Given the description of an element on the screen output the (x, y) to click on. 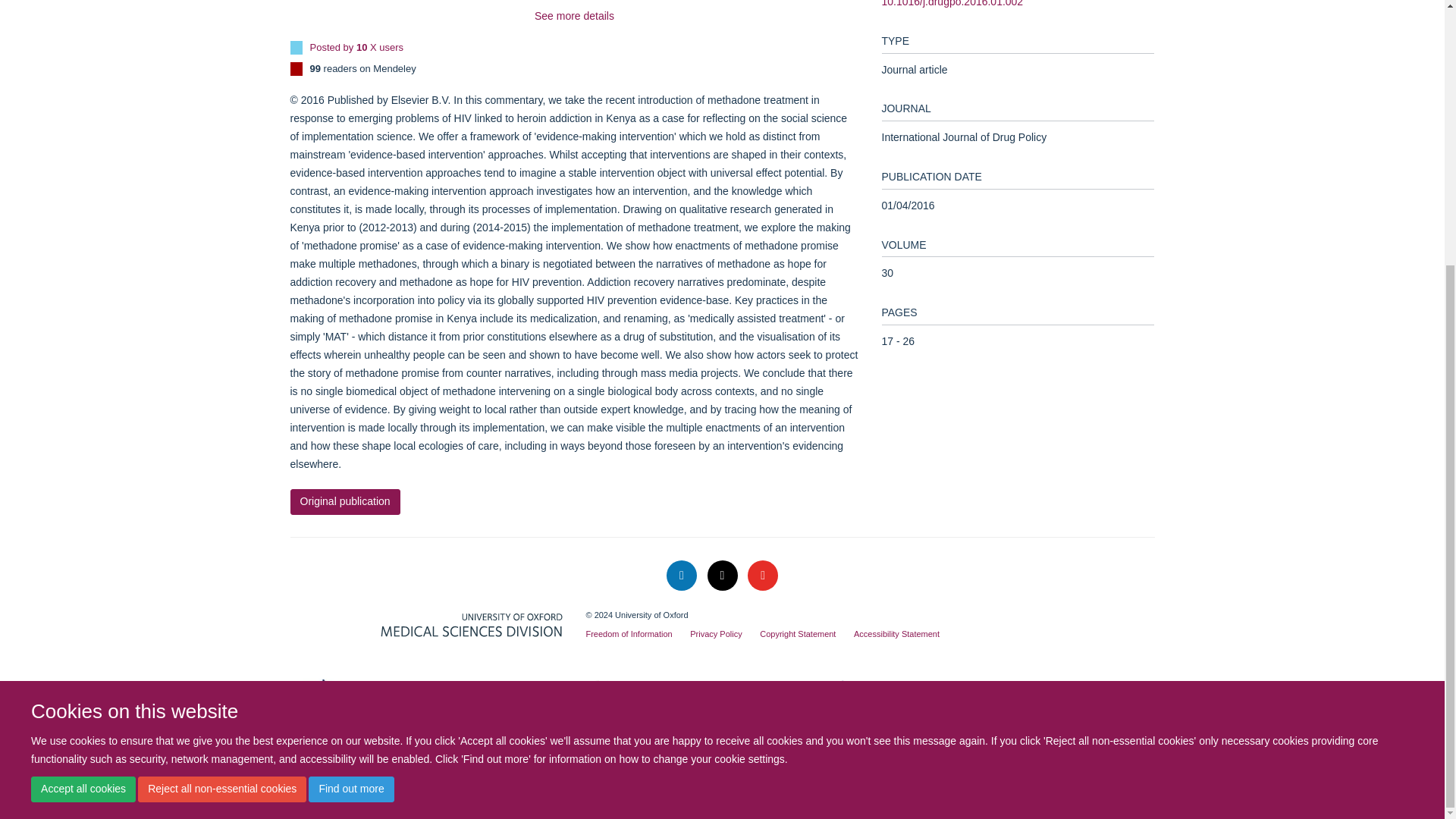
Find out more (350, 405)
Accept all cookies (82, 405)
Reject all non-essential cookies (221, 405)
